Given the description of an element on the screen output the (x, y) to click on. 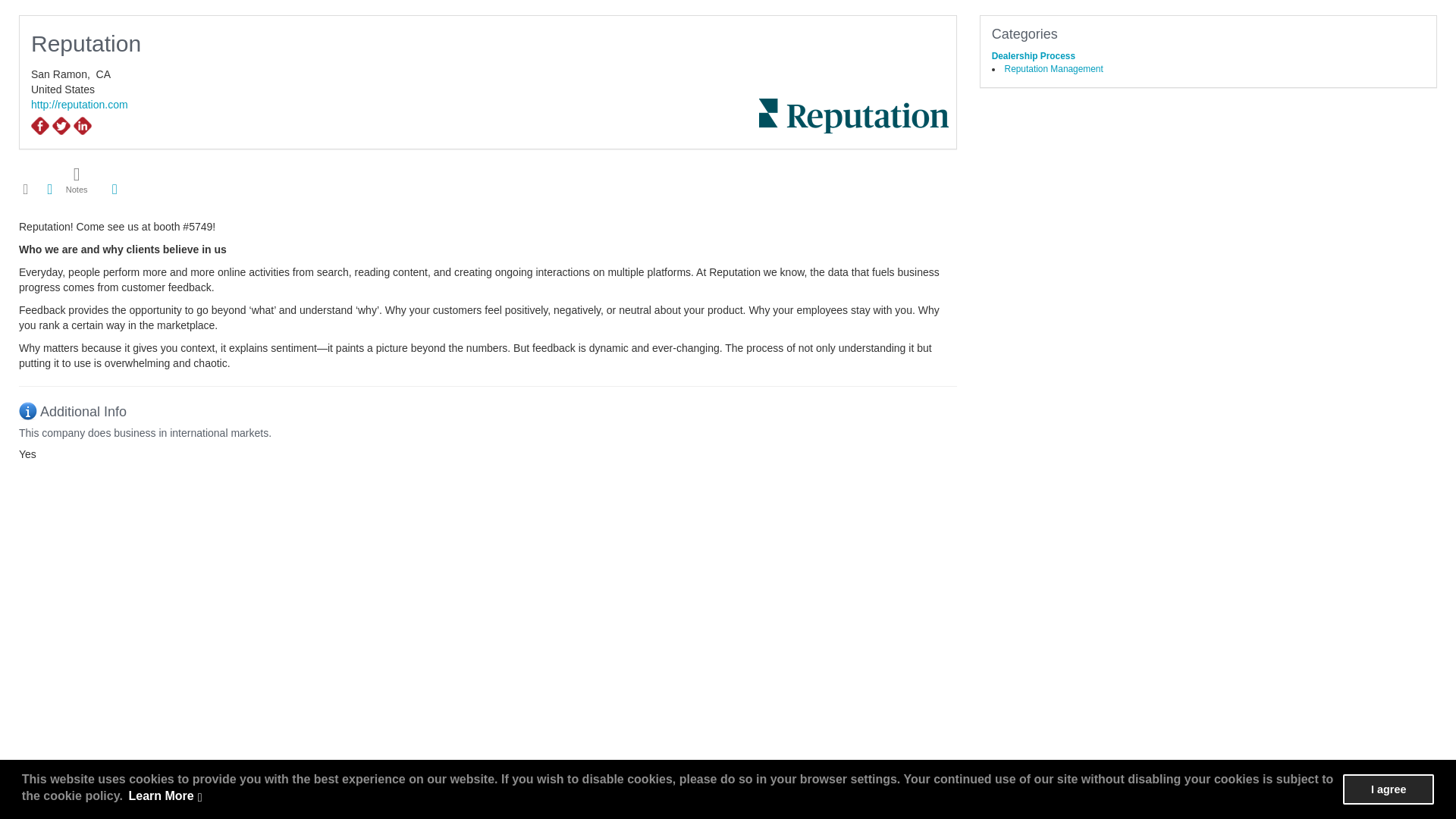
Request Appointment (25, 188)
Reputation Management (1053, 68)
Dealership Process (1033, 55)
Add To My Exhibitors (113, 189)
Log in to add notes (77, 179)
Print (50, 188)
